Given the description of an element on the screen output the (x, y) to click on. 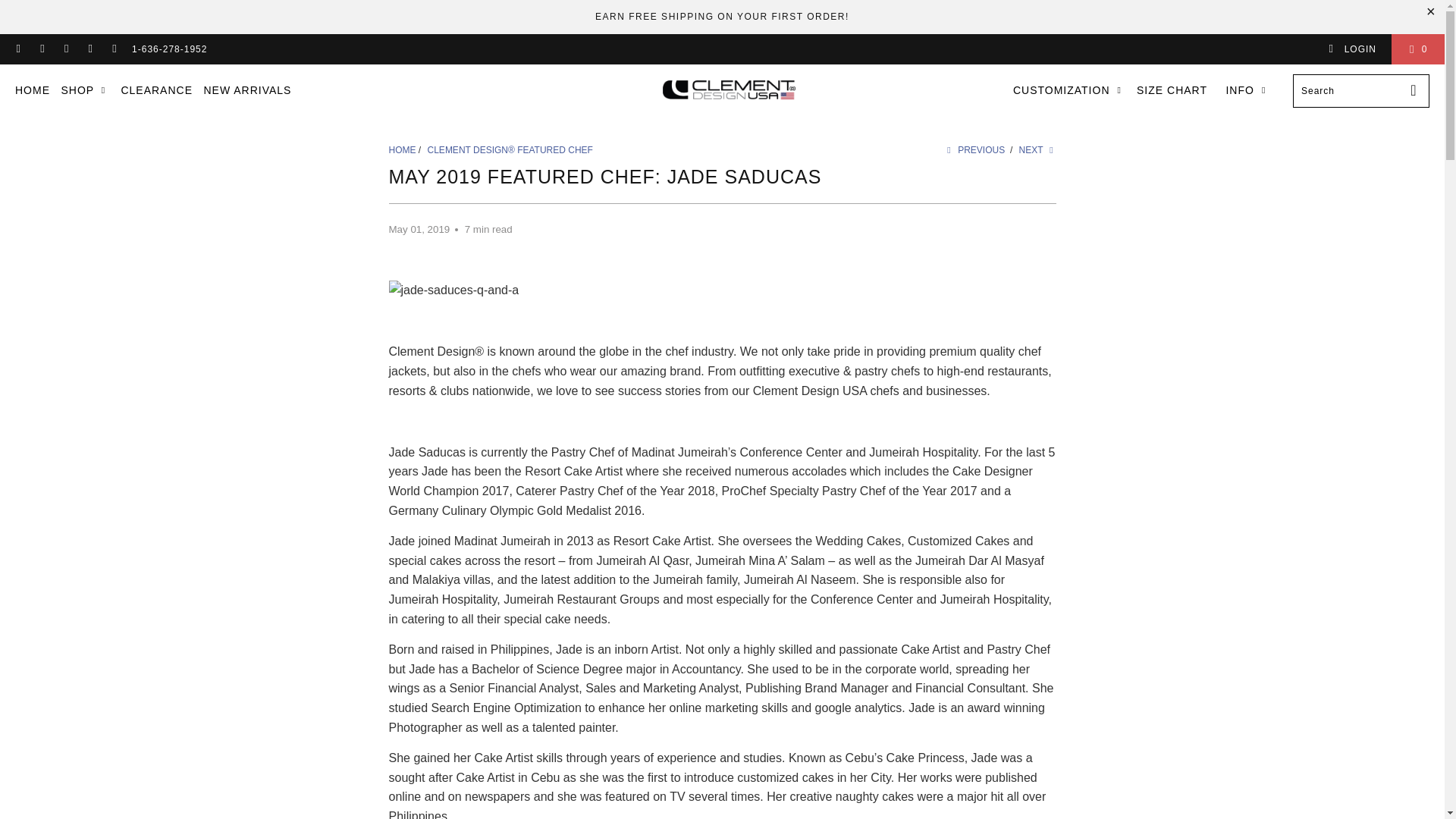
Clement Design USA on Facebook (17, 49)
Clement Design USA on Pinterest (65, 49)
Clement Design USA (728, 90)
My Account  (1351, 49)
Clement Design USA (401, 149)
Email Clement Design USA (113, 49)
Clement Design USA on Instagram (89, 49)
Clement Design USA on YouTube (41, 49)
